Given the description of an element on the screen output the (x, y) to click on. 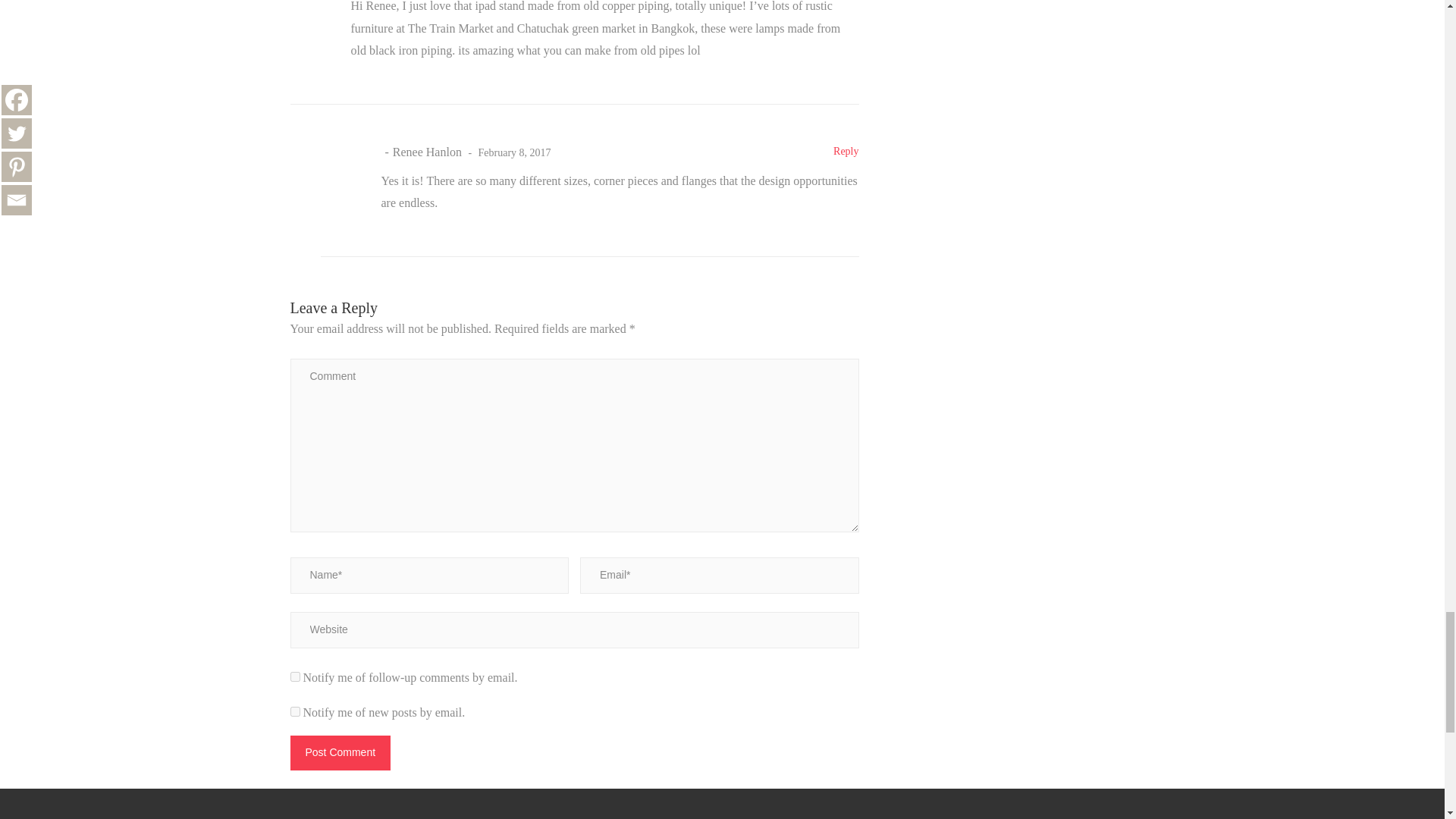
subscribe (294, 711)
subscribe (294, 676)
Post Comment (339, 752)
